Given the description of an element on the screen output the (x, y) to click on. 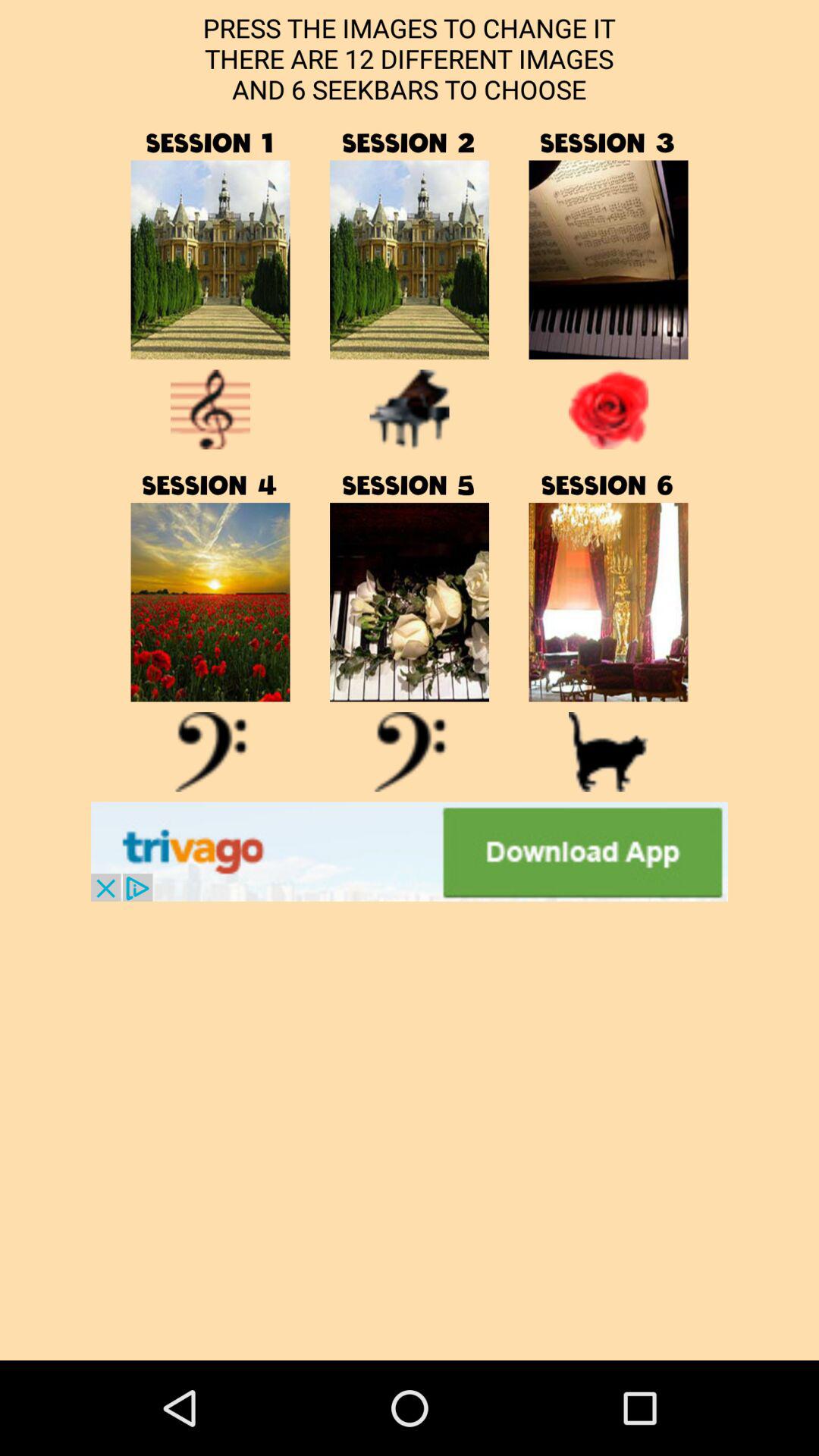
advertisement (409, 851)
